Given the description of an element on the screen output the (x, y) to click on. 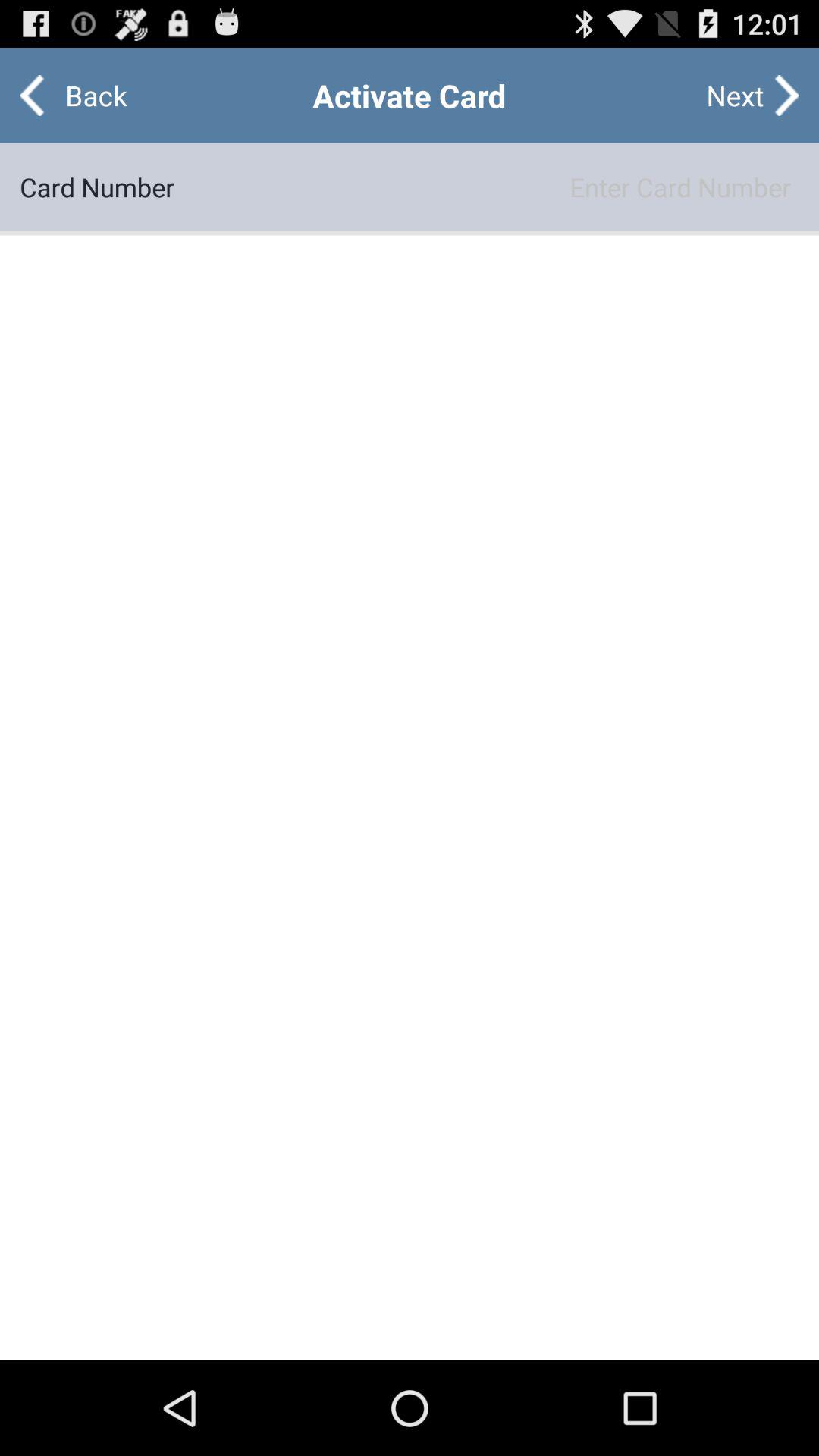
choose icon next to the next item (83, 95)
